Given the description of an element on the screen output the (x, y) to click on. 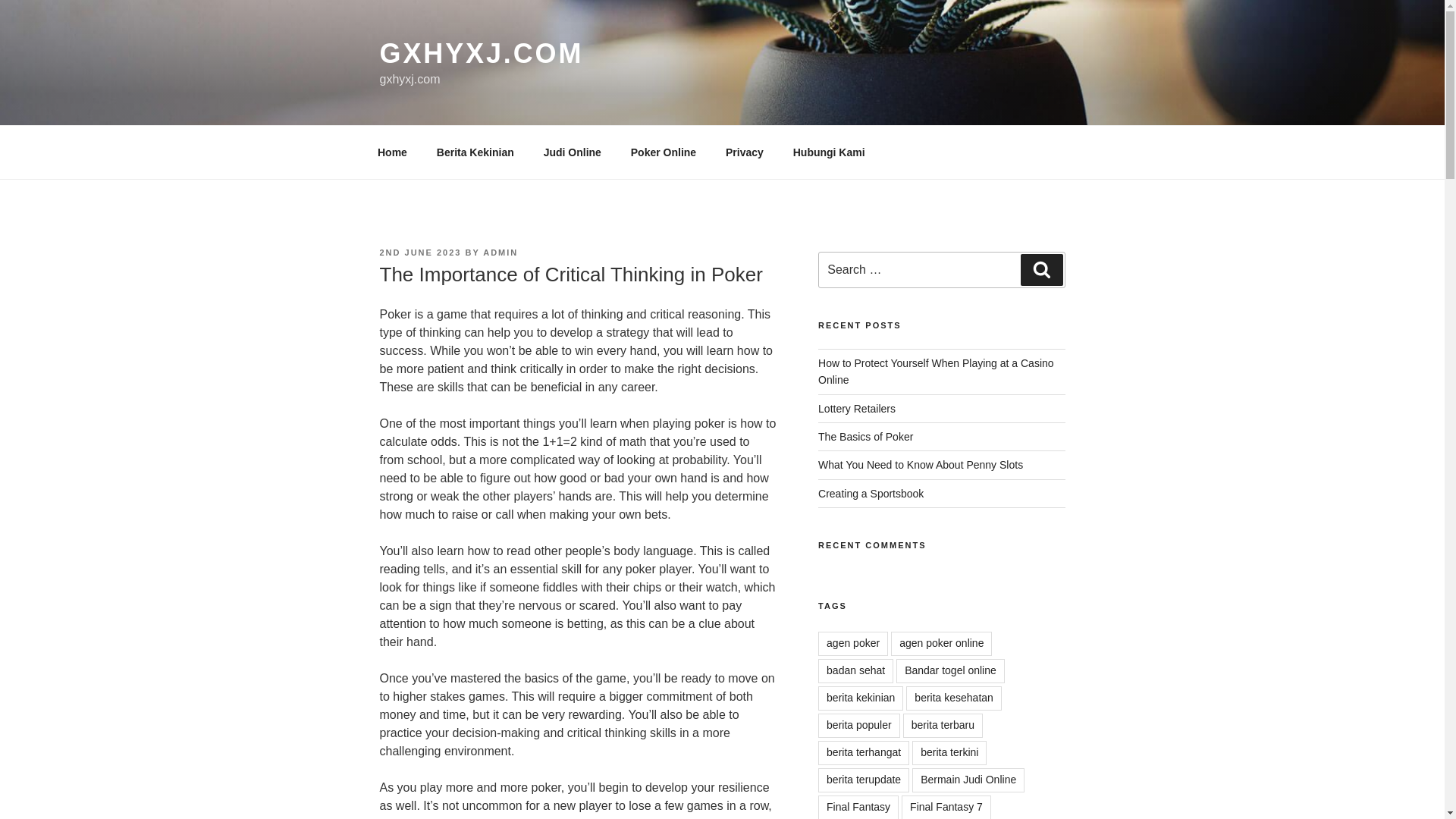
agen poker (853, 643)
berita terbaru (942, 725)
badan sehat (855, 671)
Judi Online (571, 151)
Bermain Judi Online (968, 780)
Privacy (745, 151)
The Basics of Poker (865, 436)
How to Protect Yourself When Playing at a Casino Online (936, 371)
Final Fantasy (858, 807)
Search (1041, 269)
2ND JUNE 2023 (419, 252)
Lottery Retailers (856, 408)
Home (392, 151)
Creating a Sportsbook (870, 493)
ADMIN (500, 252)
